Given the description of an element on the screen output the (x, y) to click on. 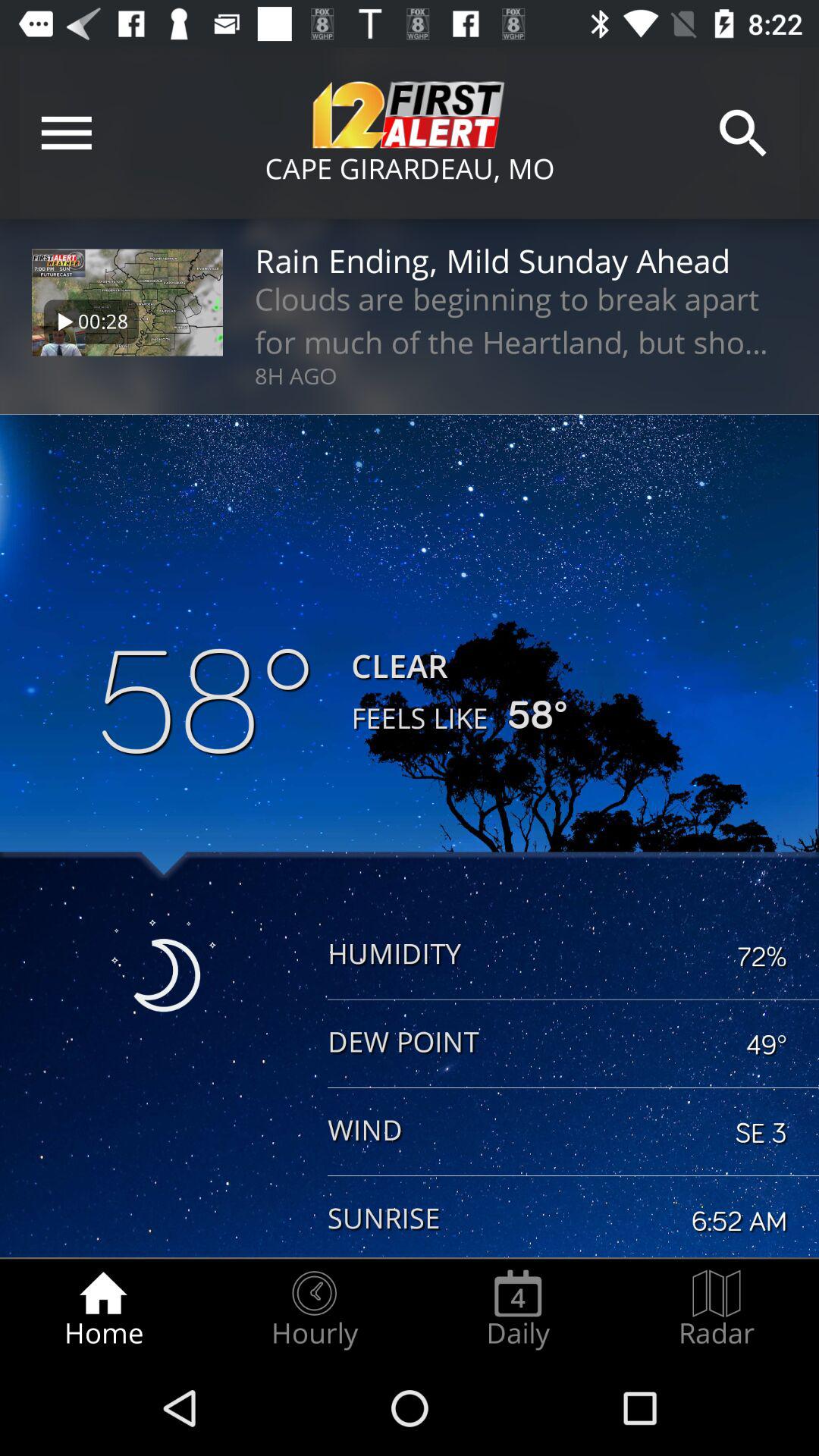
launch radio button next to the home radio button (314, 1309)
